Given the description of an element on the screen output the (x, y) to click on. 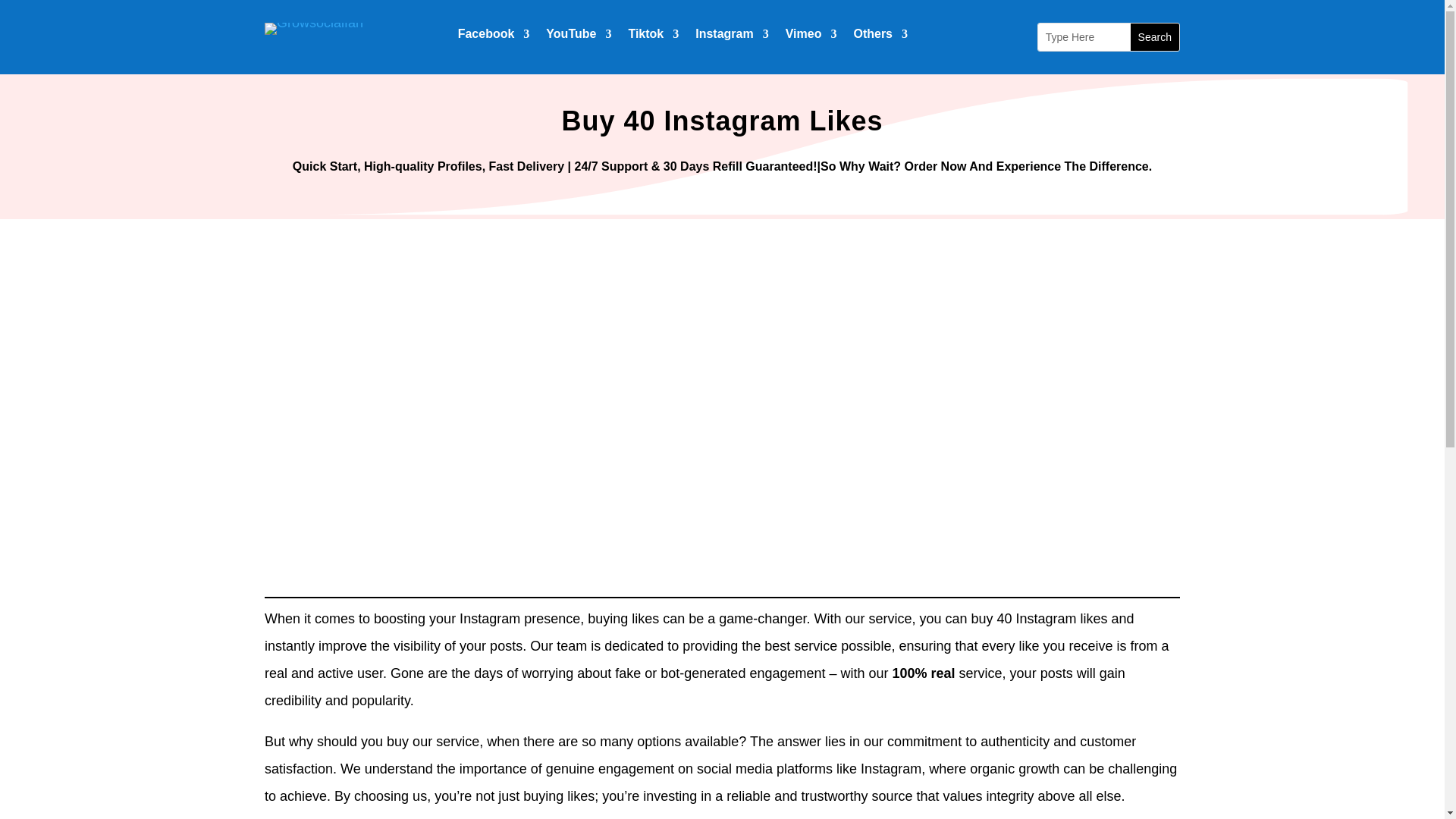
Growsocial fan logo (313, 28)
Search (1155, 36)
Instagram (731, 36)
Tiktok (652, 36)
YouTube (578, 36)
Search (1155, 36)
Facebook (493, 36)
